Given the description of an element on the screen output the (x, y) to click on. 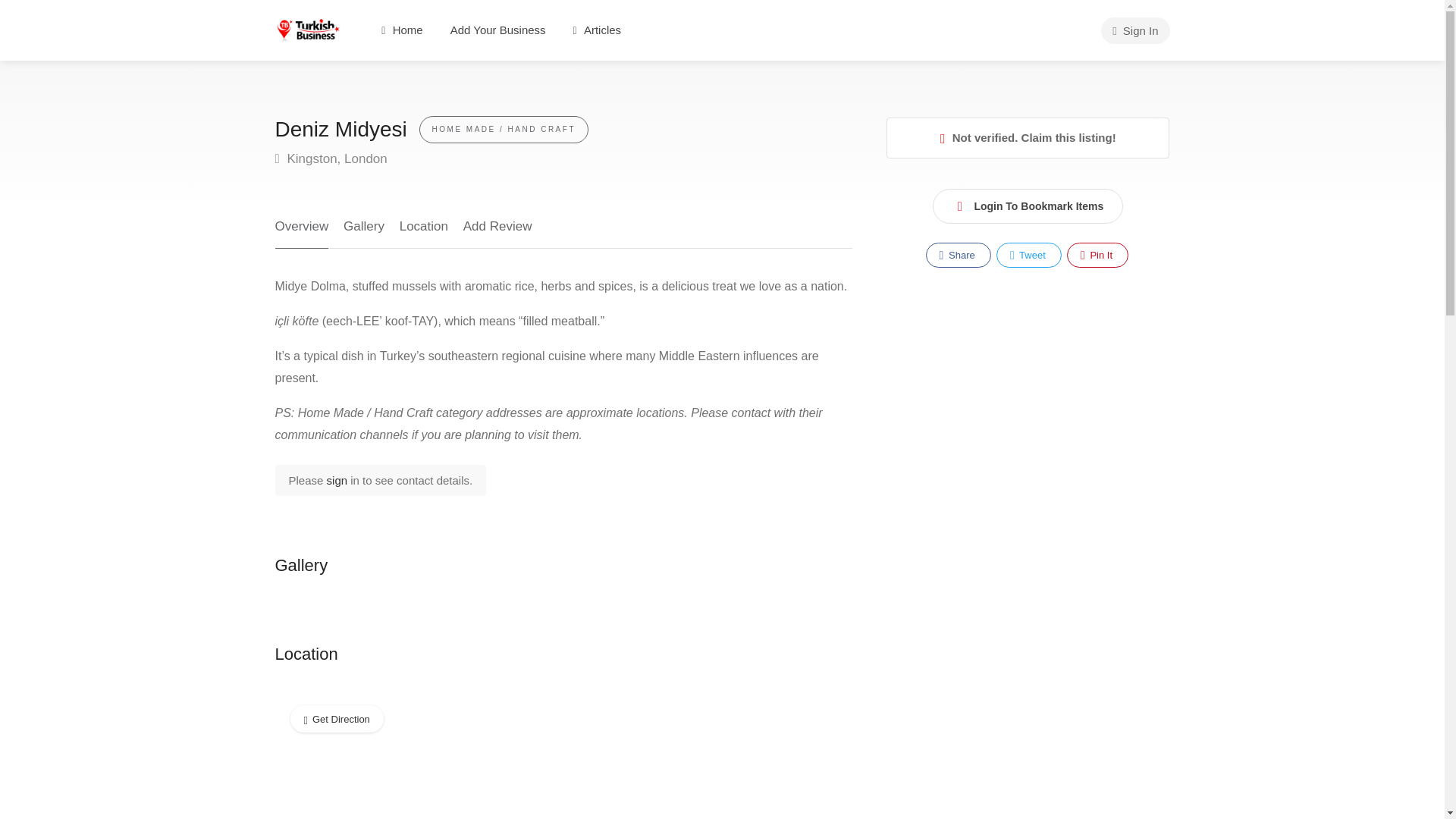
Add Your Business (498, 30)
Get Direction (335, 718)
Add Review (497, 232)
Gallery (363, 232)
sign (338, 480)
Twitter (1028, 254)
Kingston, London (331, 158)
Turkish Business (307, 29)
Login To Bookmark Items (1027, 206)
Pin It (1097, 254)
Home (401, 30)
Articles (596, 30)
Sign In (1134, 30)
Not verified. Claim this listing! (1027, 137)
Location (423, 232)
